Given the description of an element on the screen output the (x, y) to click on. 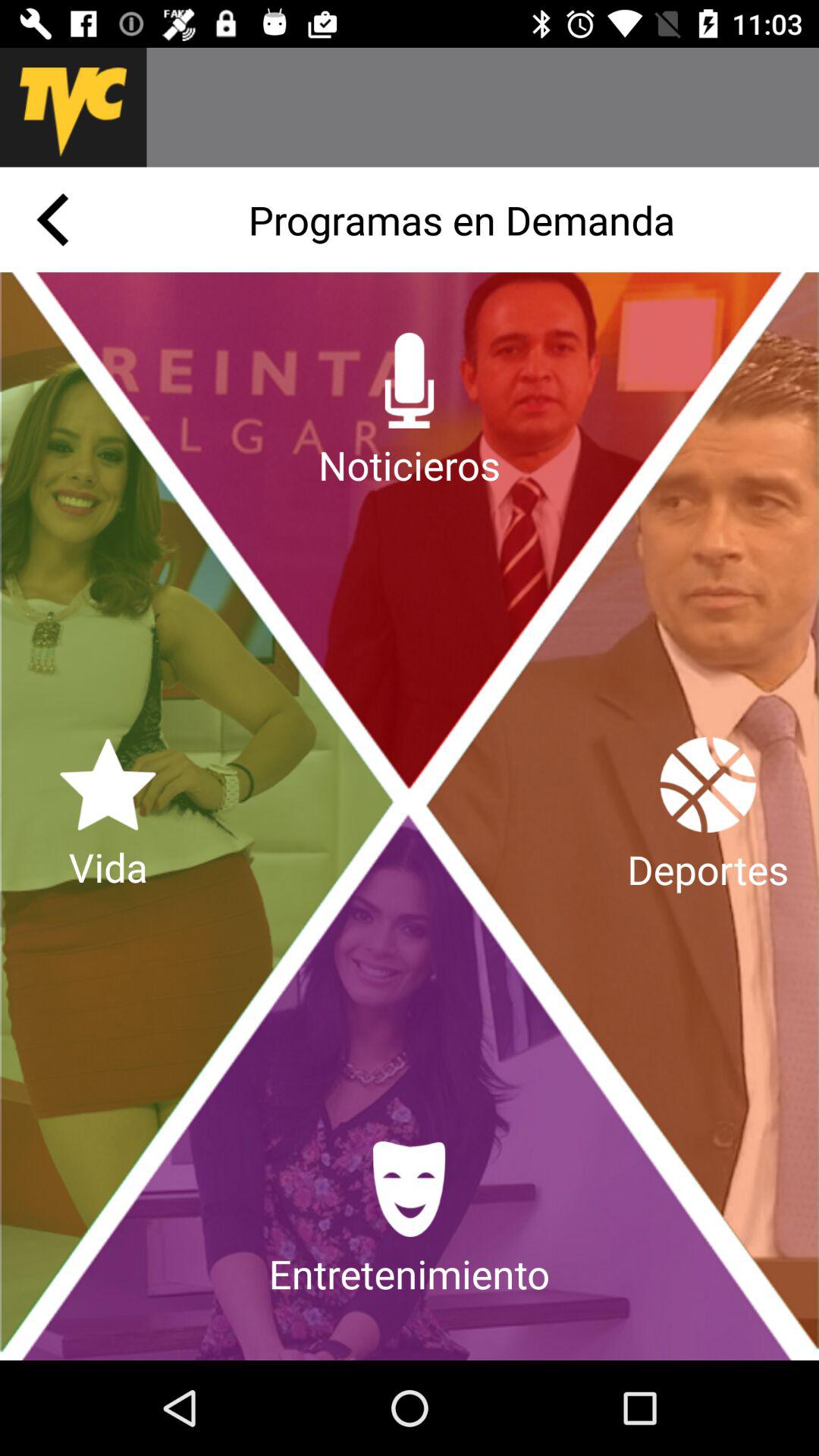
select the item below the noticieros (409, 1220)
